Given the description of an element on the screen output the (x, y) to click on. 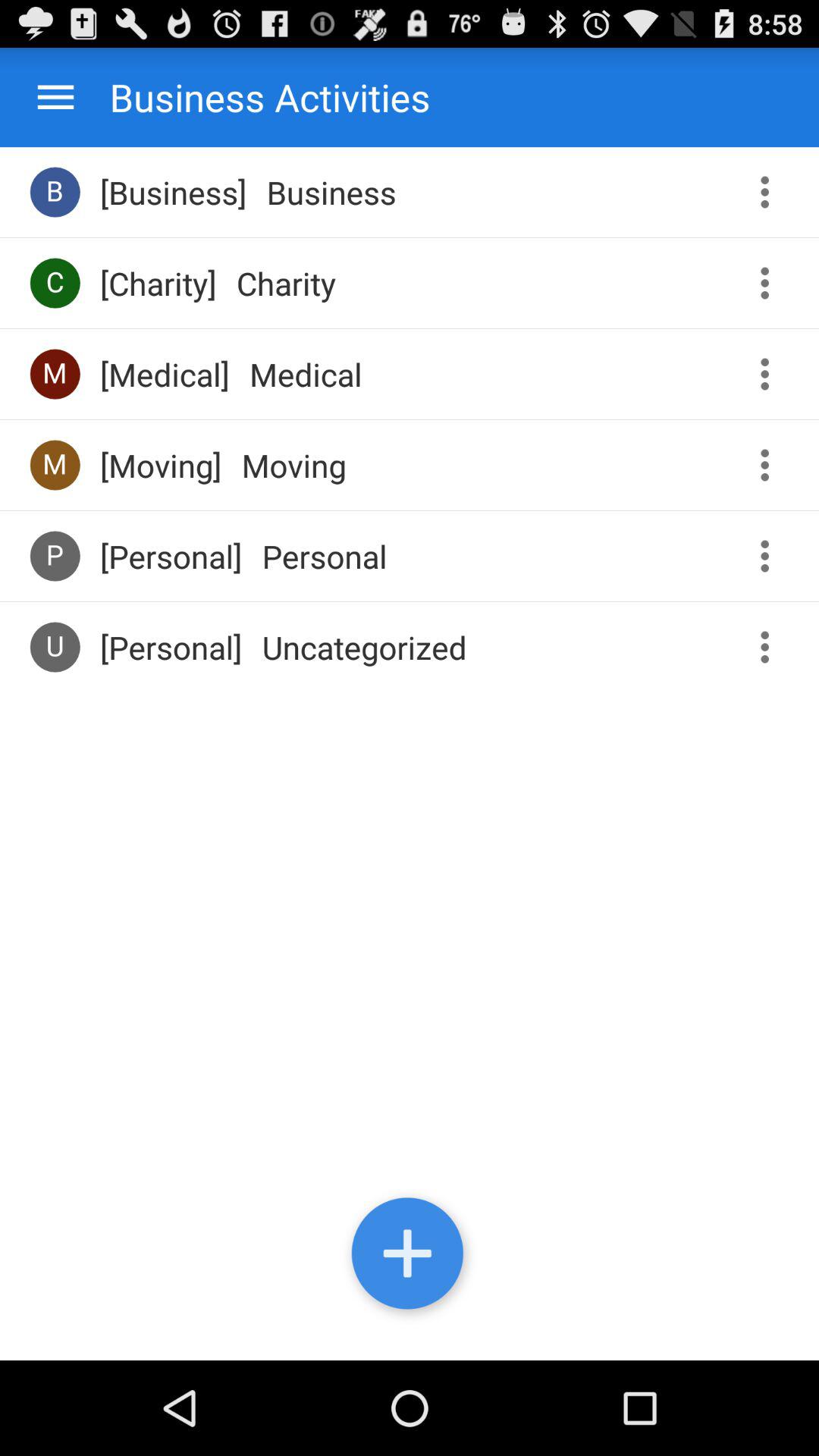
open menu (55, 97)
